Given the description of an element on the screen output the (x, y) to click on. 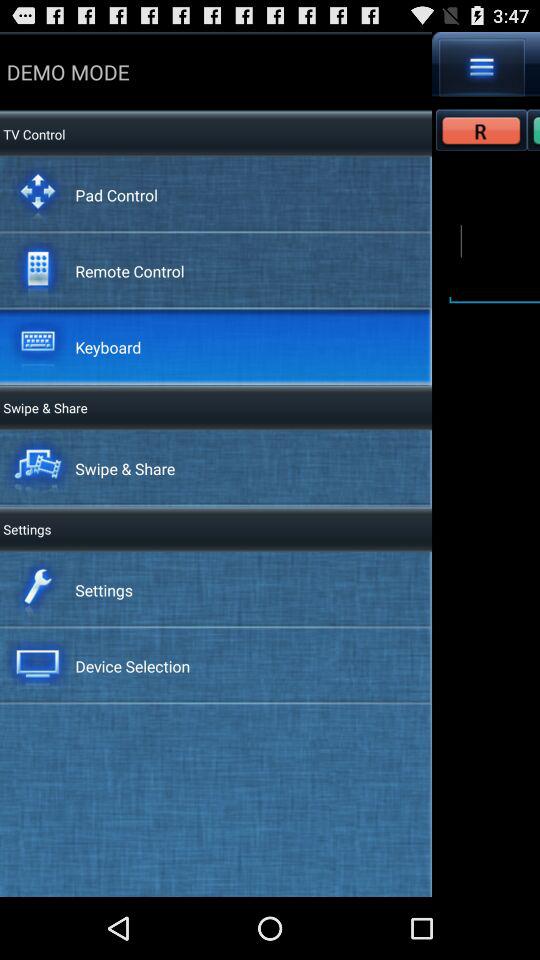
click r for remote use (481, 129)
